Given the description of an element on the screen output the (x, y) to click on. 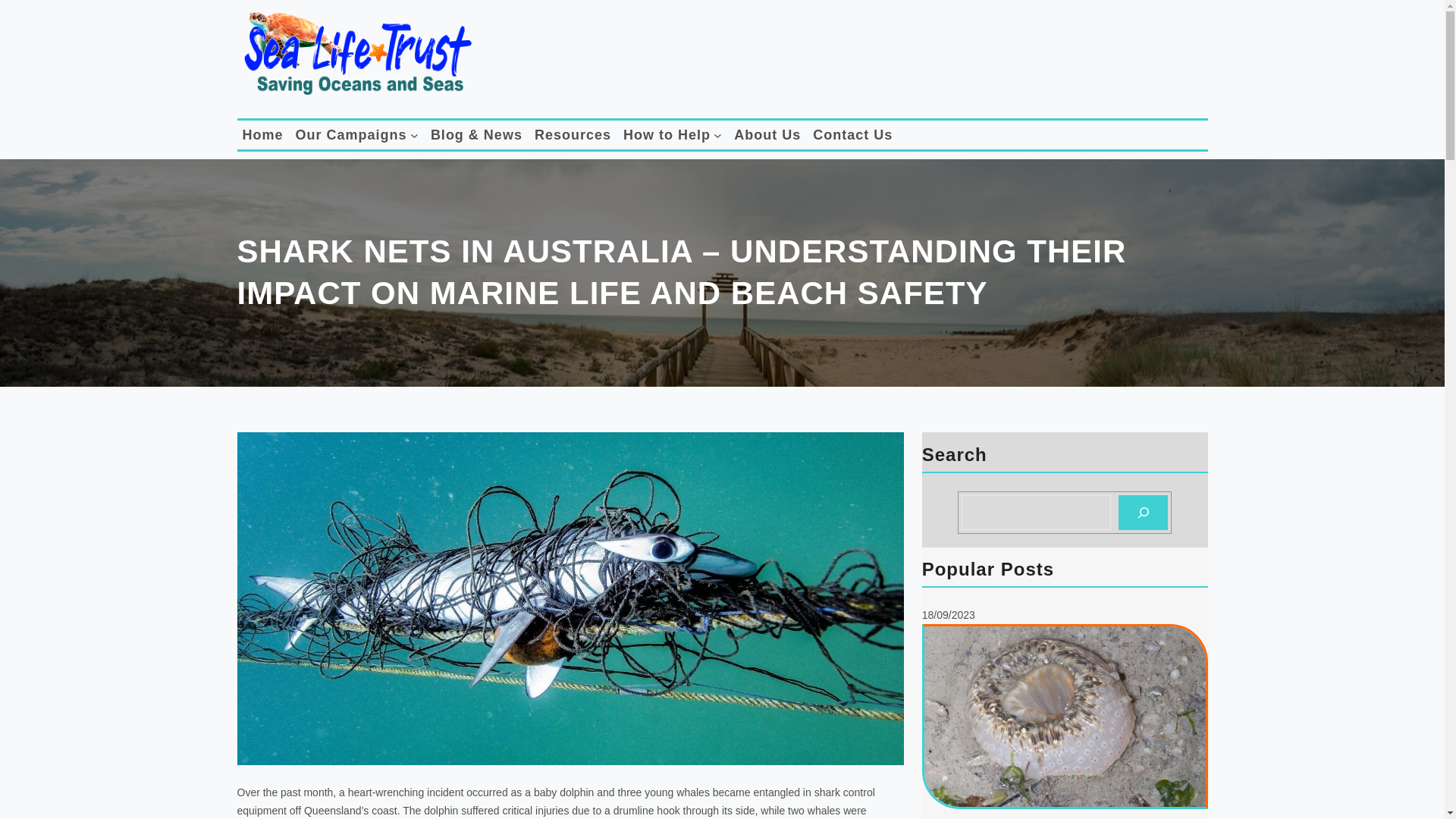
Resources (572, 135)
Our Campaigns (351, 135)
Contact Us (852, 135)
How to Help (666, 135)
Home (263, 135)
About Us (766, 135)
